Given the description of an element on the screen output the (x, y) to click on. 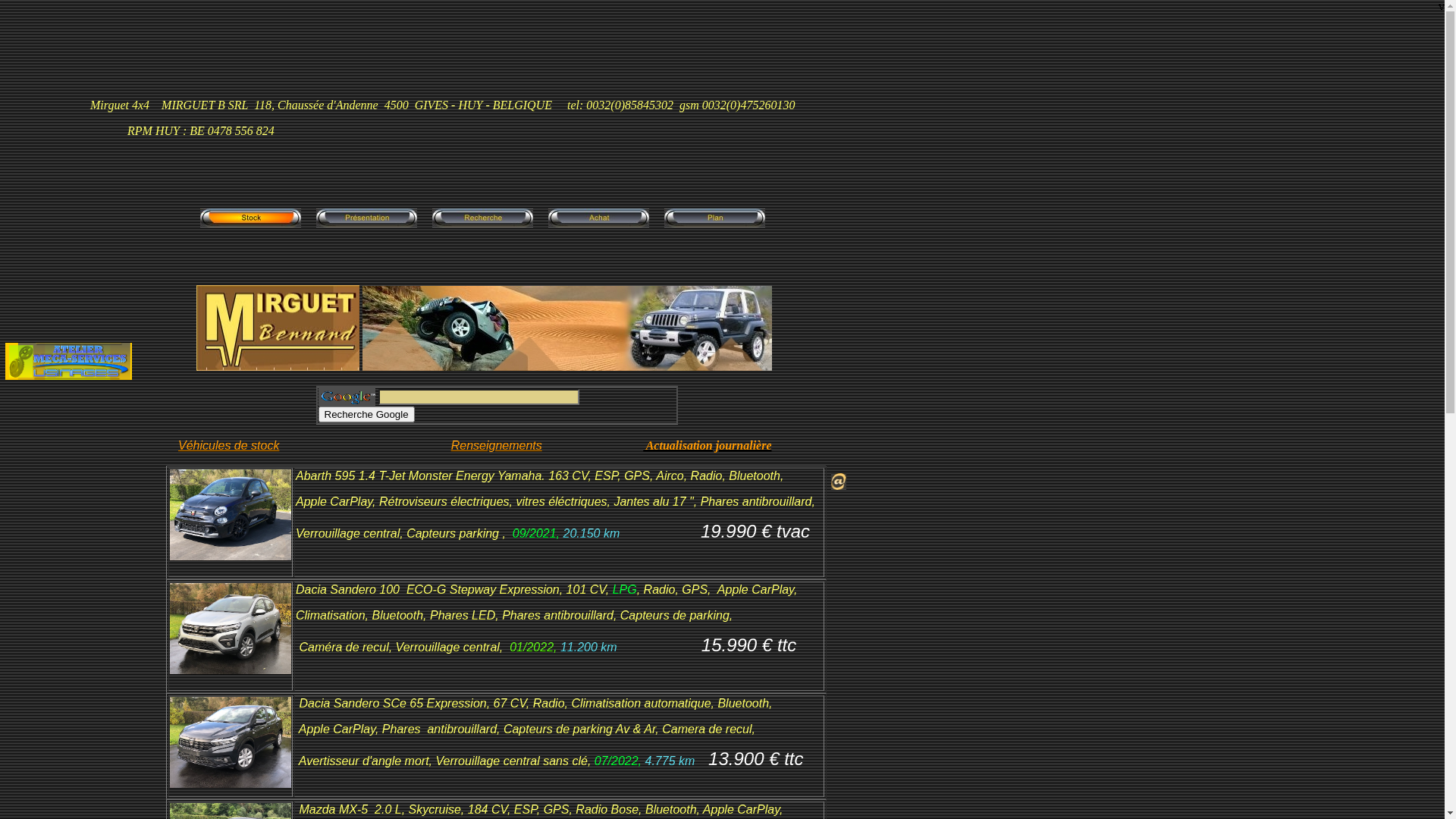
Recherche Google Element type: text (366, 414)
